Given the description of an element on the screen output the (x, y) to click on. 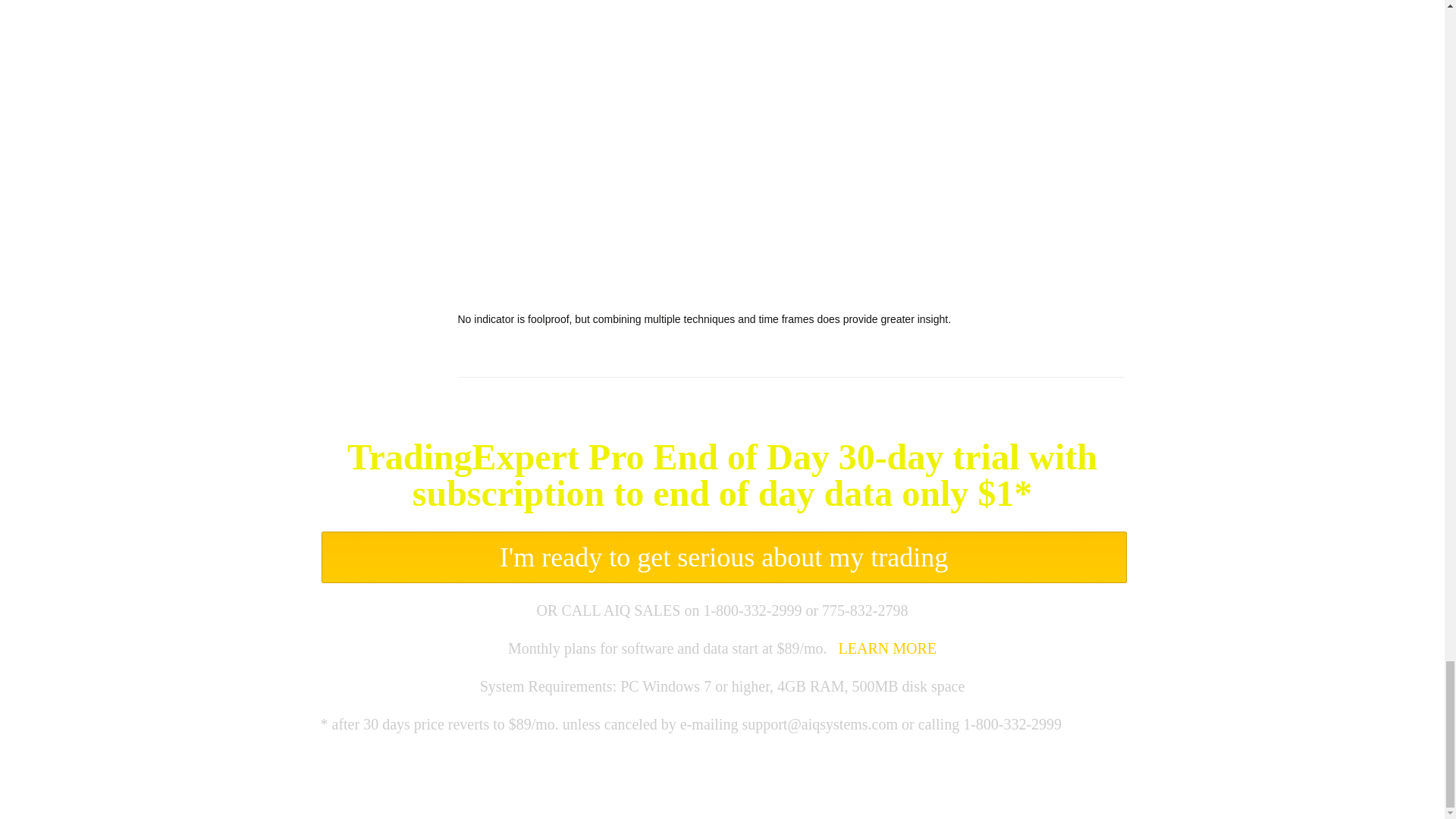
I'm ready to get serious about my trading (723, 557)
LEARN MORE (887, 647)
